Given the description of an element on the screen output the (x, y) to click on. 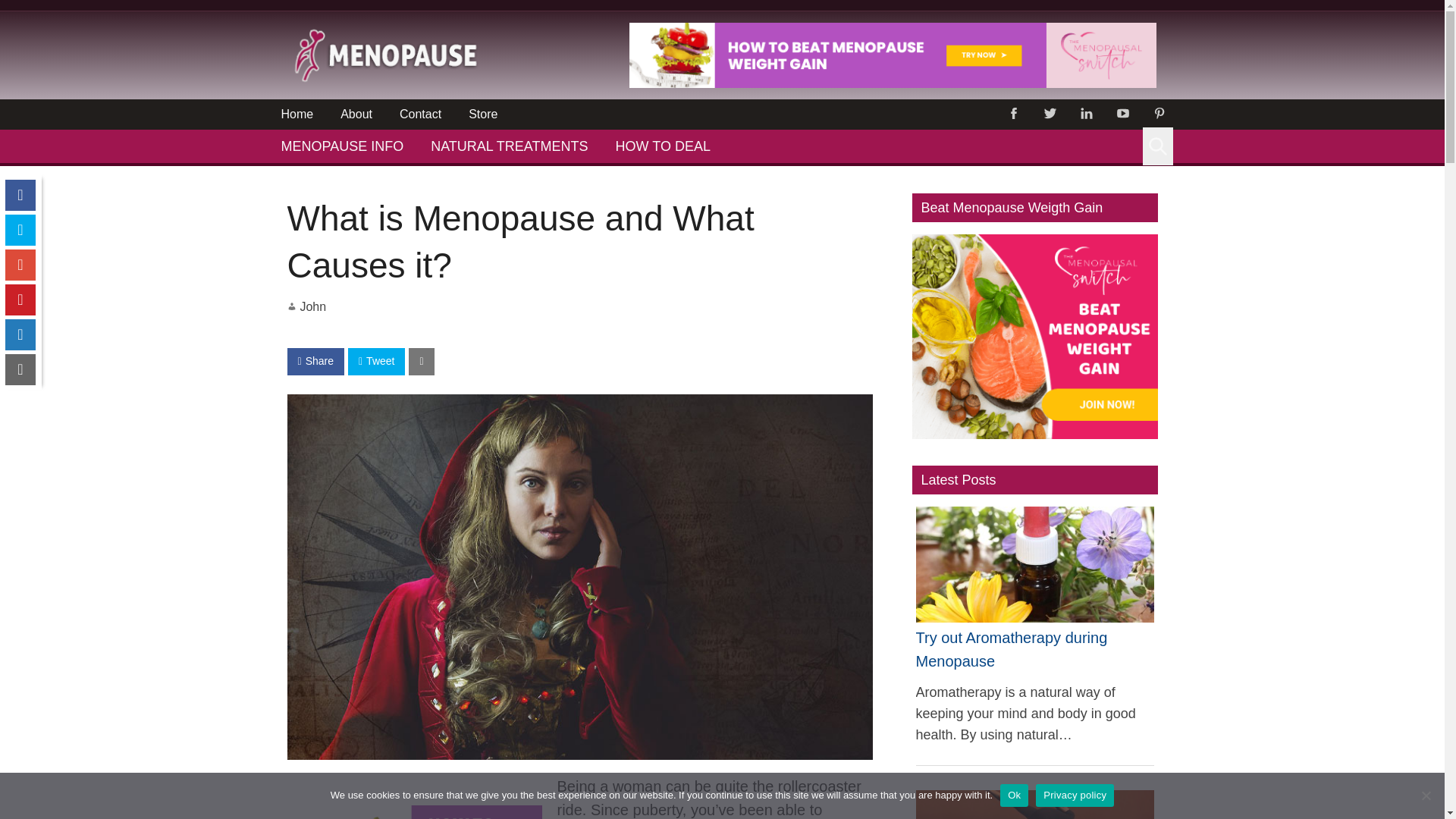
NATURAL TREATMENTS (508, 145)
Contact (419, 114)
Menopause Weigth Gain No More (892, 83)
Menopause Weigth Gain No More (892, 54)
Tweet on Twitter (375, 361)
John (312, 306)
Share (314, 361)
MENOPAUSE INFO (341, 145)
About (355, 114)
Menopause Weigth Gain No More (413, 812)
